Given the description of an element on the screen output the (x, y) to click on. 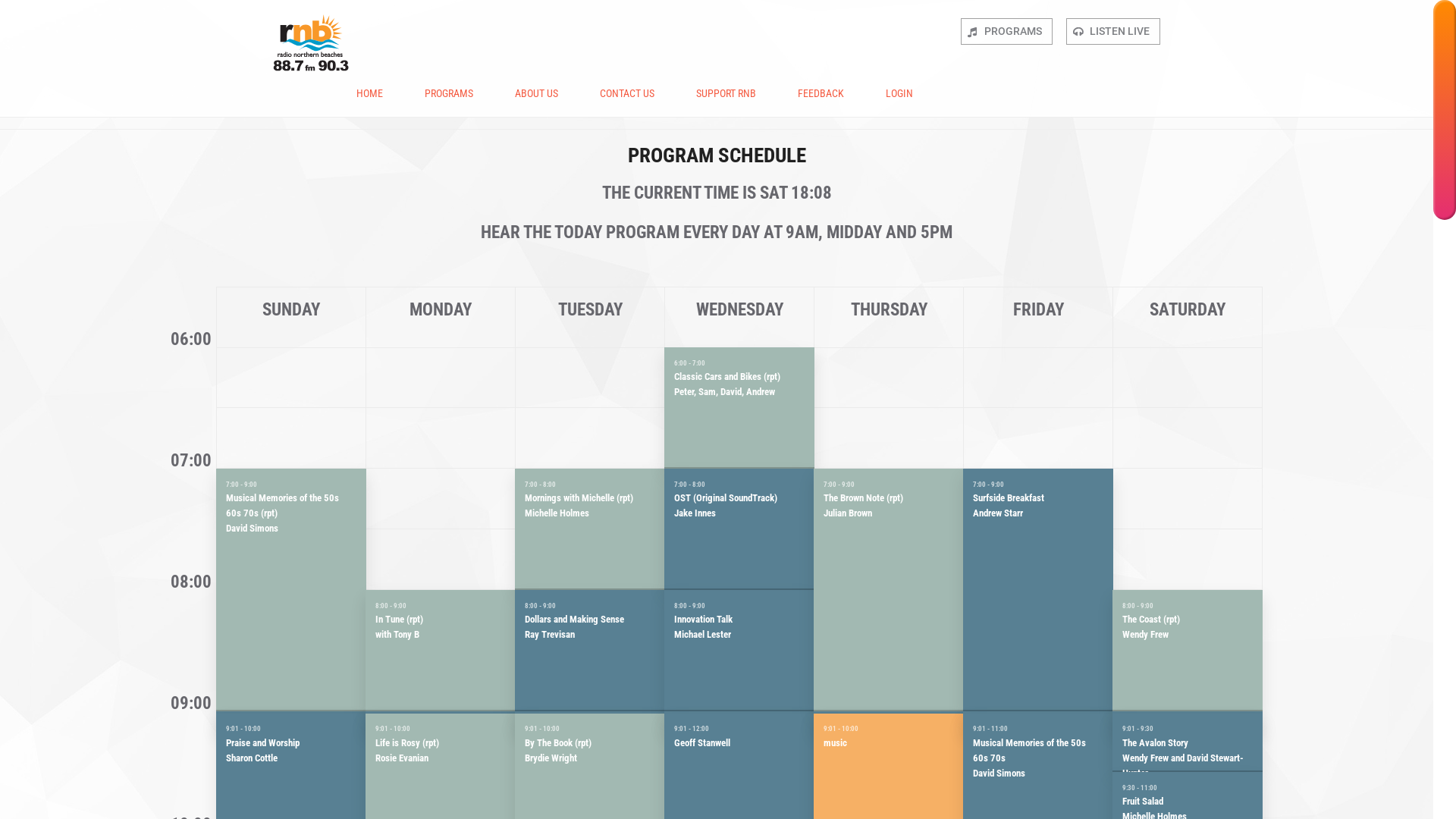
Dollars and Making Sense
Ray Trevisan Element type: text (589, 650)
ABOUT US Element type: text (536, 92)
LISTEN LIVE Element type: text (1113, 31)
The Coast (rpt)
Wendy Frew Element type: text (1187, 650)
OST (Original SoundTrack)
Jake Innes Element type: text (739, 529)
Surfside Breakfast
Andrew Starr Element type: text (1038, 590)
TODAY on RNB
Programs Committee Element type: text (739, 721)
In Tune (rpt)
with Tony B Element type: text (440, 650)
The Brown Note (rpt)
Julian Brown Element type: text (888, 590)
TODAY on RNB
Programs Committee Element type: text (291, 721)
TODAY on RNB
Programs Committee Element type: text (440, 721)
PROGRAMS Element type: text (448, 92)
LOGIN Element type: text (899, 92)
SUPPORT RNB Element type: text (725, 92)
TODAY on RNB
Programs Committee Element type: text (888, 721)
The Avalon Story
Wendy Frew and David Stewart-Hunter Element type: text (1187, 742)
PROGRAMS Element type: text (1006, 31)
Innovation Talk
Michael Lester Element type: text (739, 650)
Musical Memories of the 50s 60s 70s (rpt)
David Simons Element type: text (291, 590)
TODAY on RNB
Programs Committee Element type: text (1038, 721)
CONTACT US Element type: text (627, 92)
HOME Element type: text (369, 92)
TODAY on RNB
Programs Committee Element type: text (1187, 721)
Mornings with Michelle (rpt)
Michelle Holmes Element type: text (589, 529)
TODAY on RNB
Programs Committee Element type: text (589, 721)
Classic Cars and Bikes (rpt)
Peter, Sam, David, Andrew Element type: text (739, 408)
FEEDBACK Element type: text (820, 92)
